Given the description of an element on the screen output the (x, y) to click on. 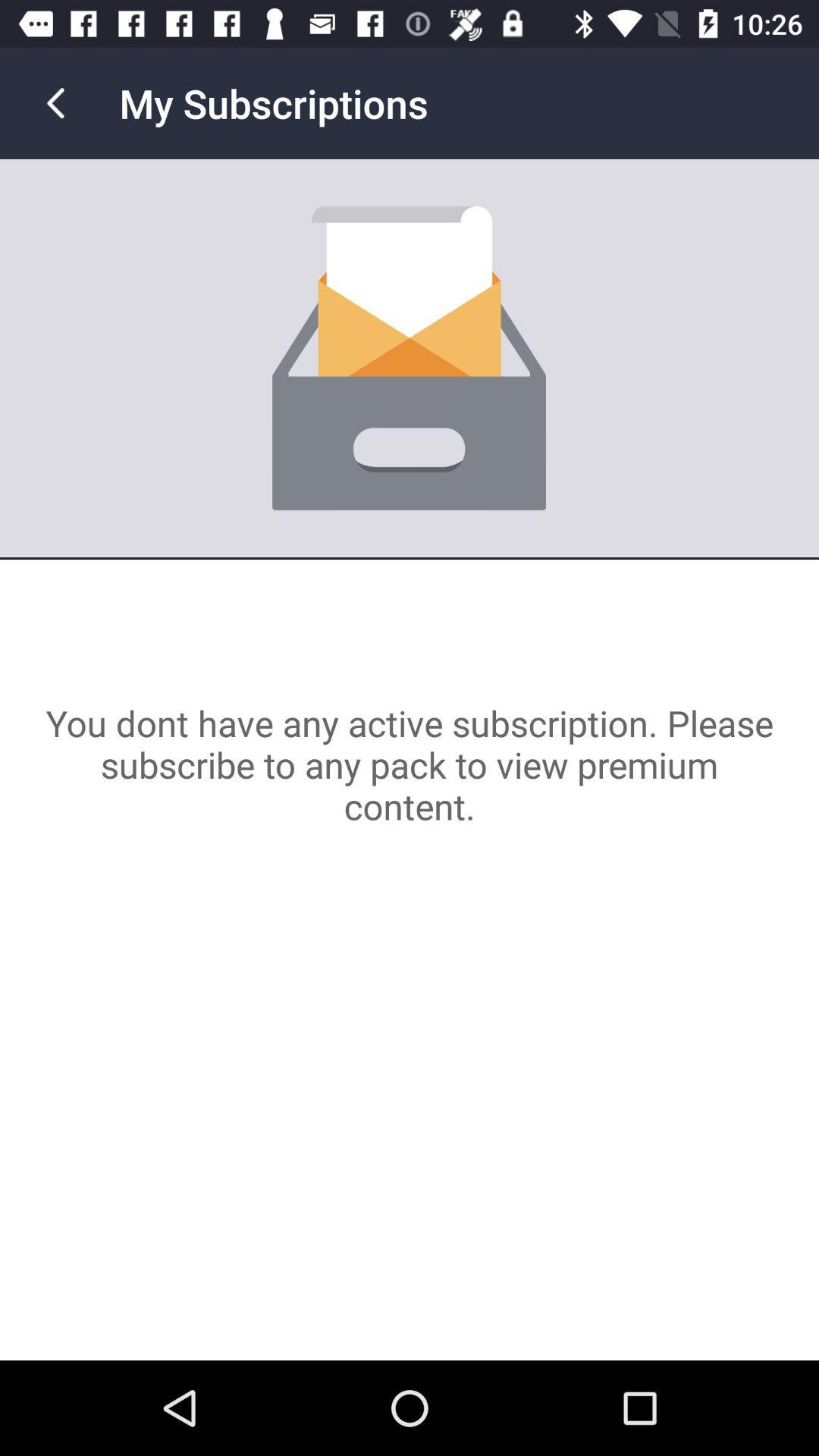
go back (55, 103)
